Given the description of an element on the screen output the (x, y) to click on. 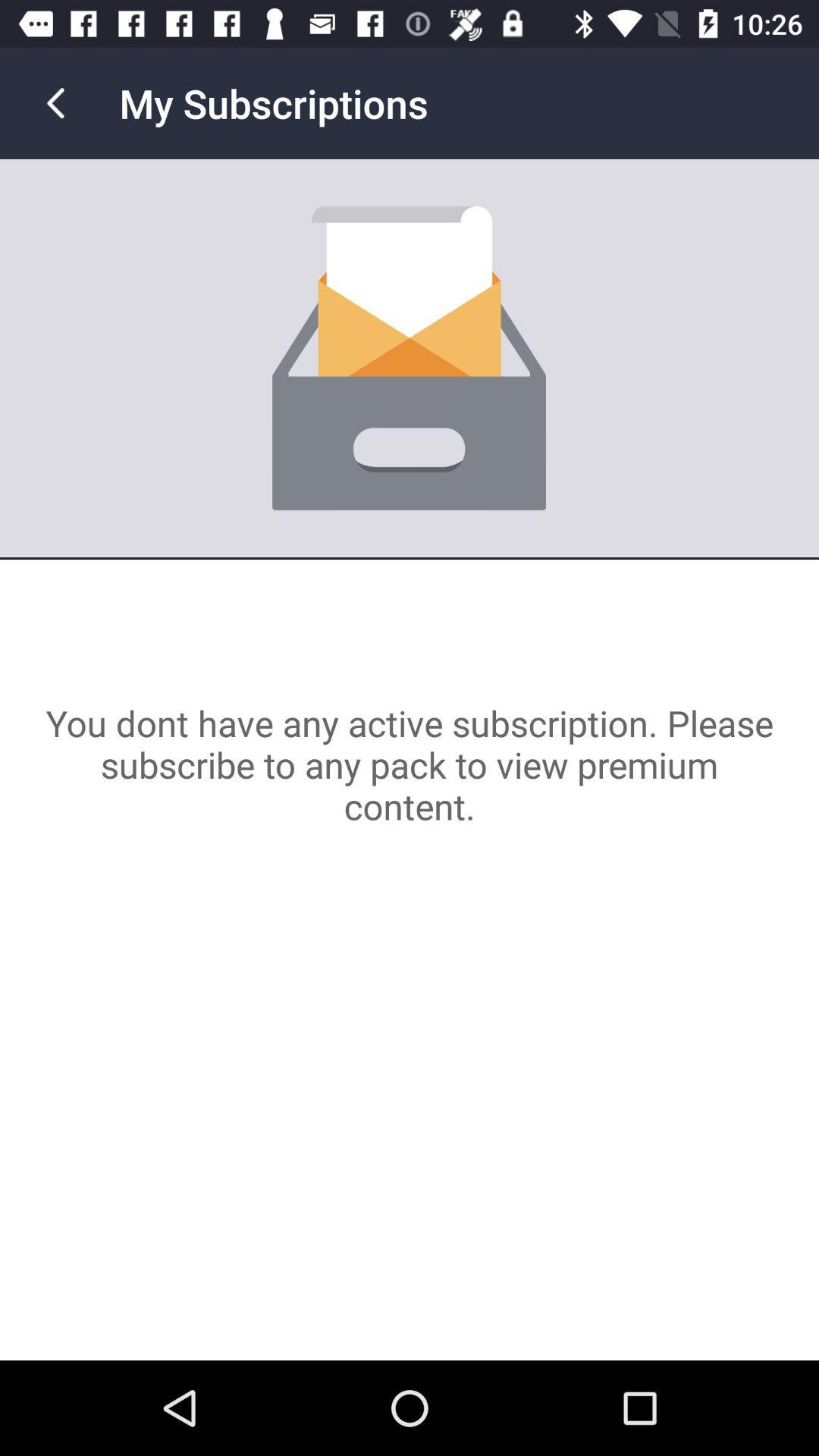
go back (55, 103)
